Given the description of an element on the screen output the (x, y) to click on. 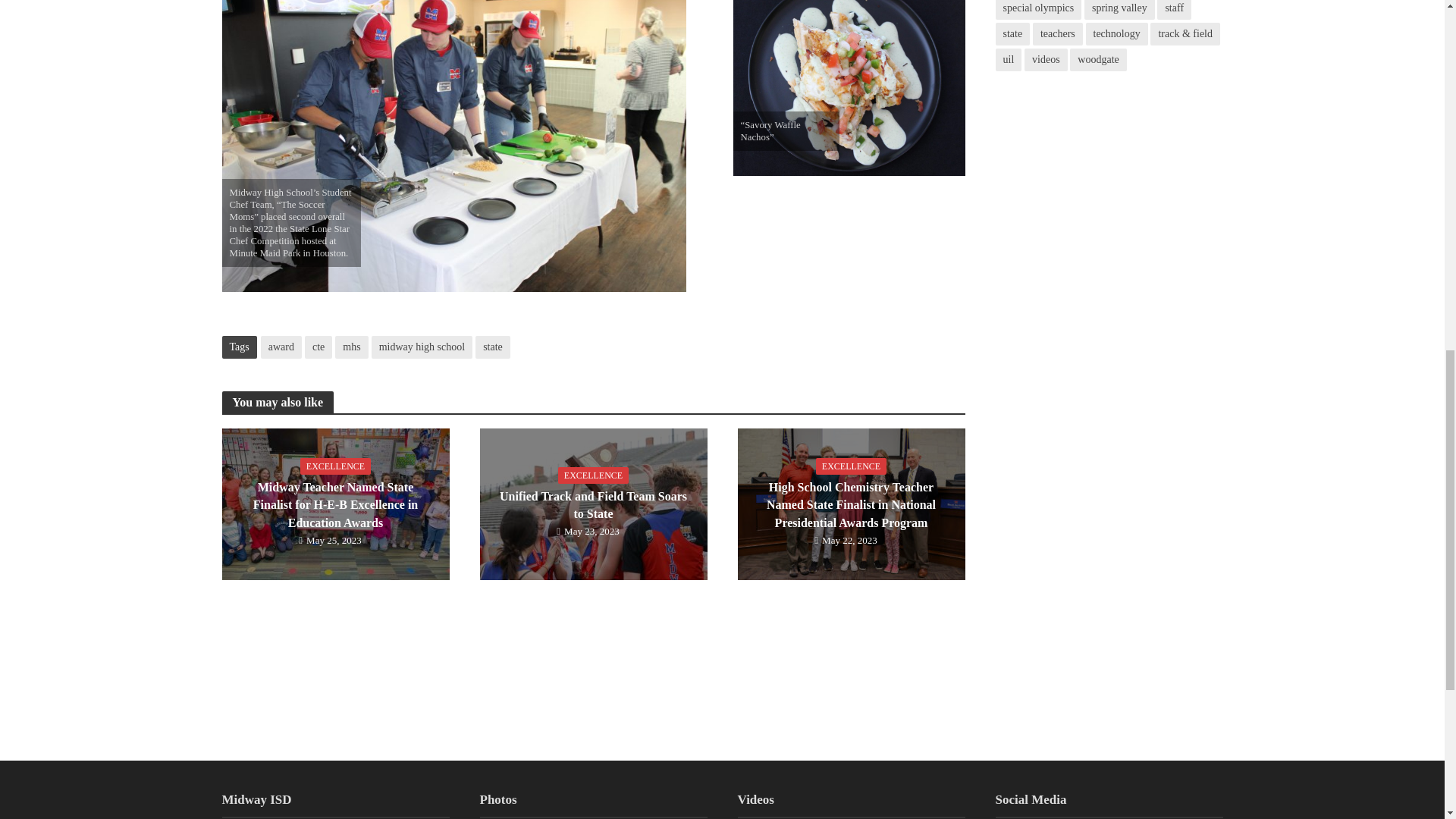
midway high school (422, 346)
mhs (351, 346)
Unified Track and Field Team Soars to State (592, 502)
state (493, 346)
award (280, 346)
EXCELLENCE (592, 475)
cte (317, 346)
EXCELLENCE (335, 466)
